Given the description of an element on the screen output the (x, y) to click on. 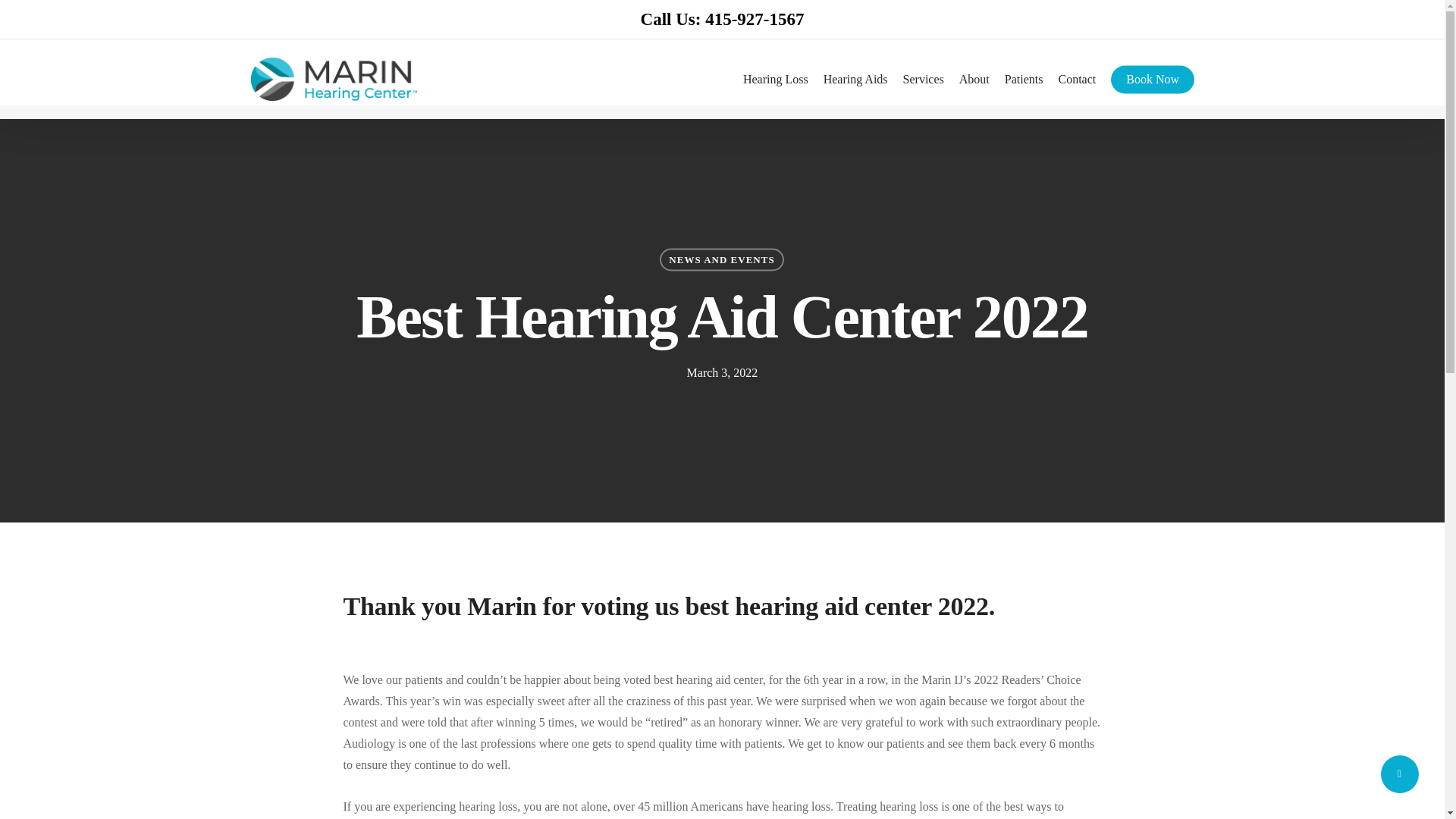
Patients (1023, 78)
About (974, 78)
NEWS AND EVENTS (721, 259)
Hearing Loss (775, 78)
Book Now (1151, 78)
Hearing Aids (856, 78)
Call Us: 415-927-1567 (722, 18)
Services (922, 78)
Contact (1077, 78)
